Given the description of an element on the screen output the (x, y) to click on. 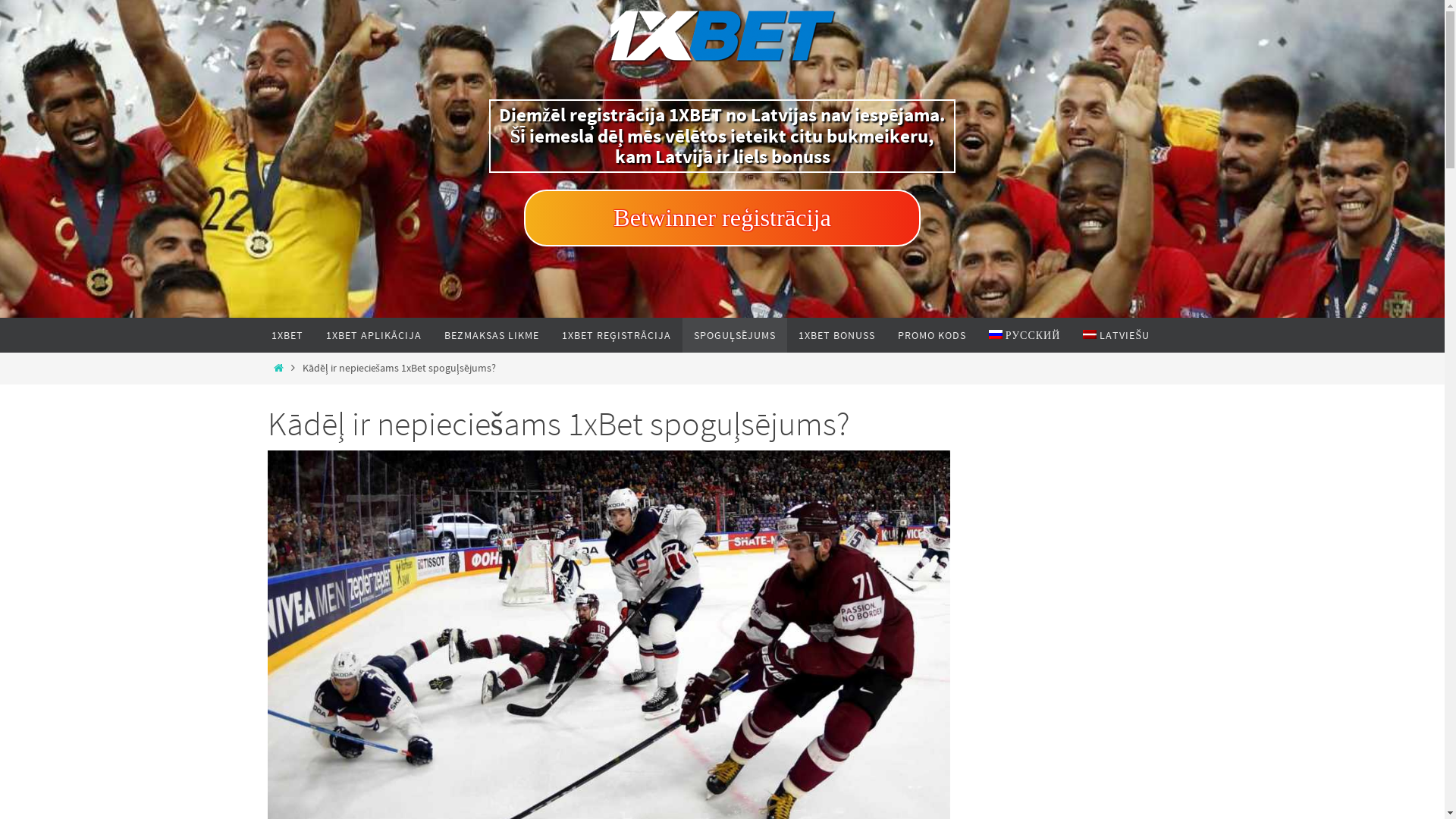
1XBET Element type: text (286, 334)
BEZMAKSAS LIKME Element type: text (490, 334)
1XBET BONUSS Element type: text (836, 334)
PROMO KODS Element type: text (930, 334)
